Given the description of an element on the screen output the (x, y) to click on. 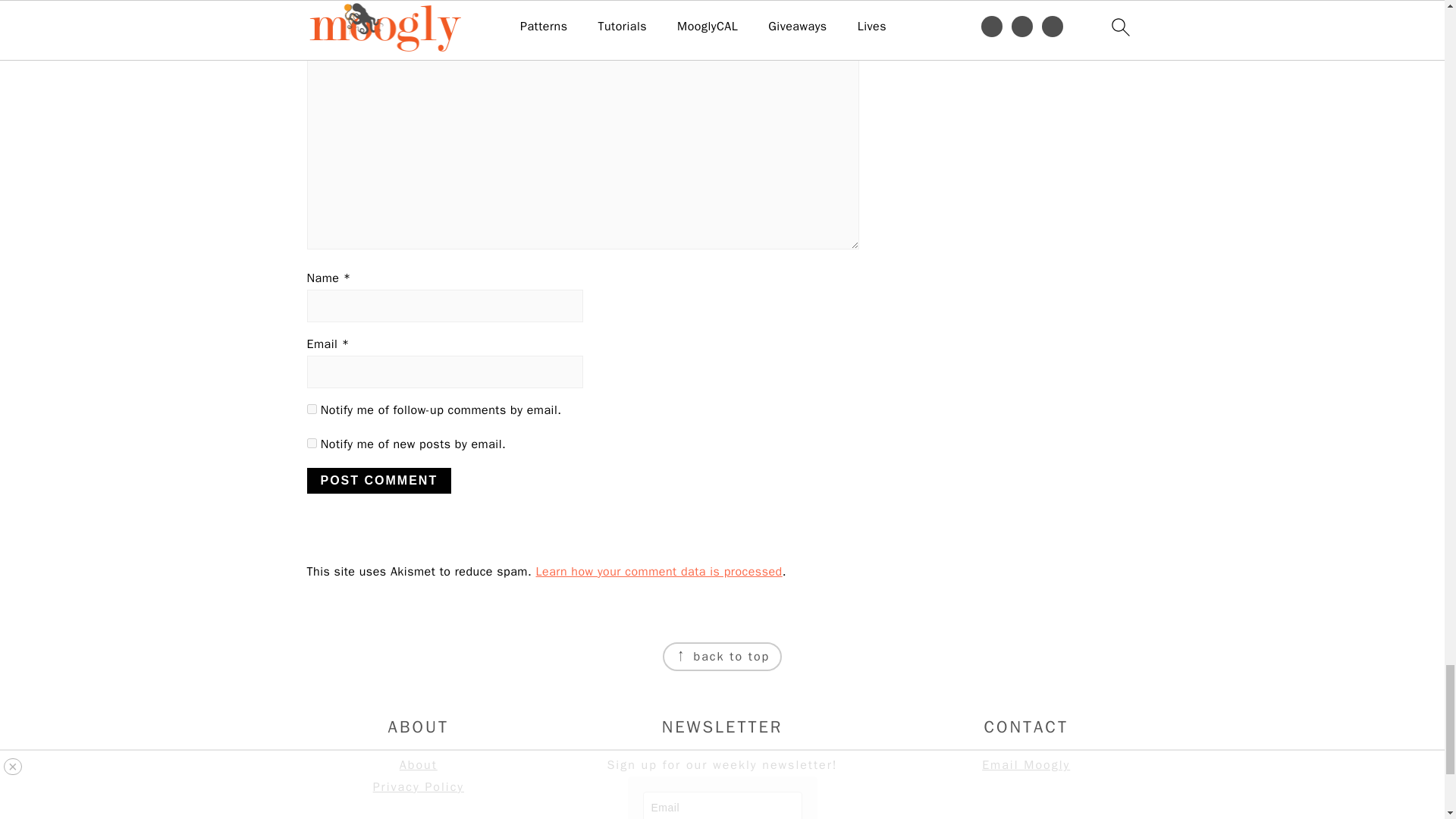
Post Comment (378, 480)
subscribe (310, 442)
subscribe (310, 409)
